Given the description of an element on the screen output the (x, y) to click on. 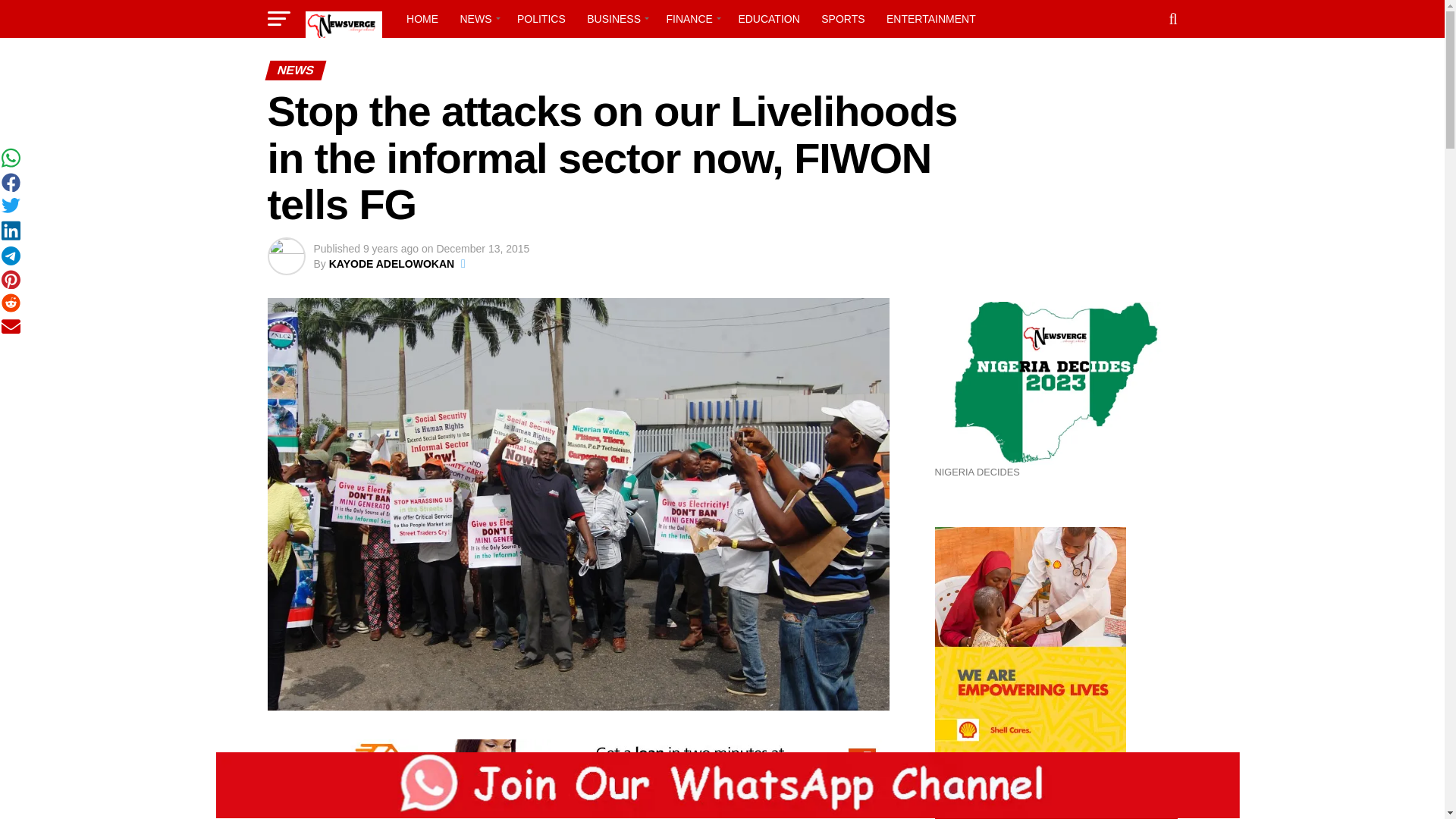
SPORTS (842, 18)
ENTERTAINMENT (931, 18)
Posts by KAYODE ADELOWOKAN (391, 263)
POLITICS (541, 18)
FINANCE (690, 18)
JoinOurWhatsAppChannel (727, 785)
NEWS (476, 18)
BUSINESS (615, 18)
KAYODE ADELOWOKAN (391, 263)
EDUCATION (768, 18)
